Given the description of an element on the screen output the (x, y) to click on. 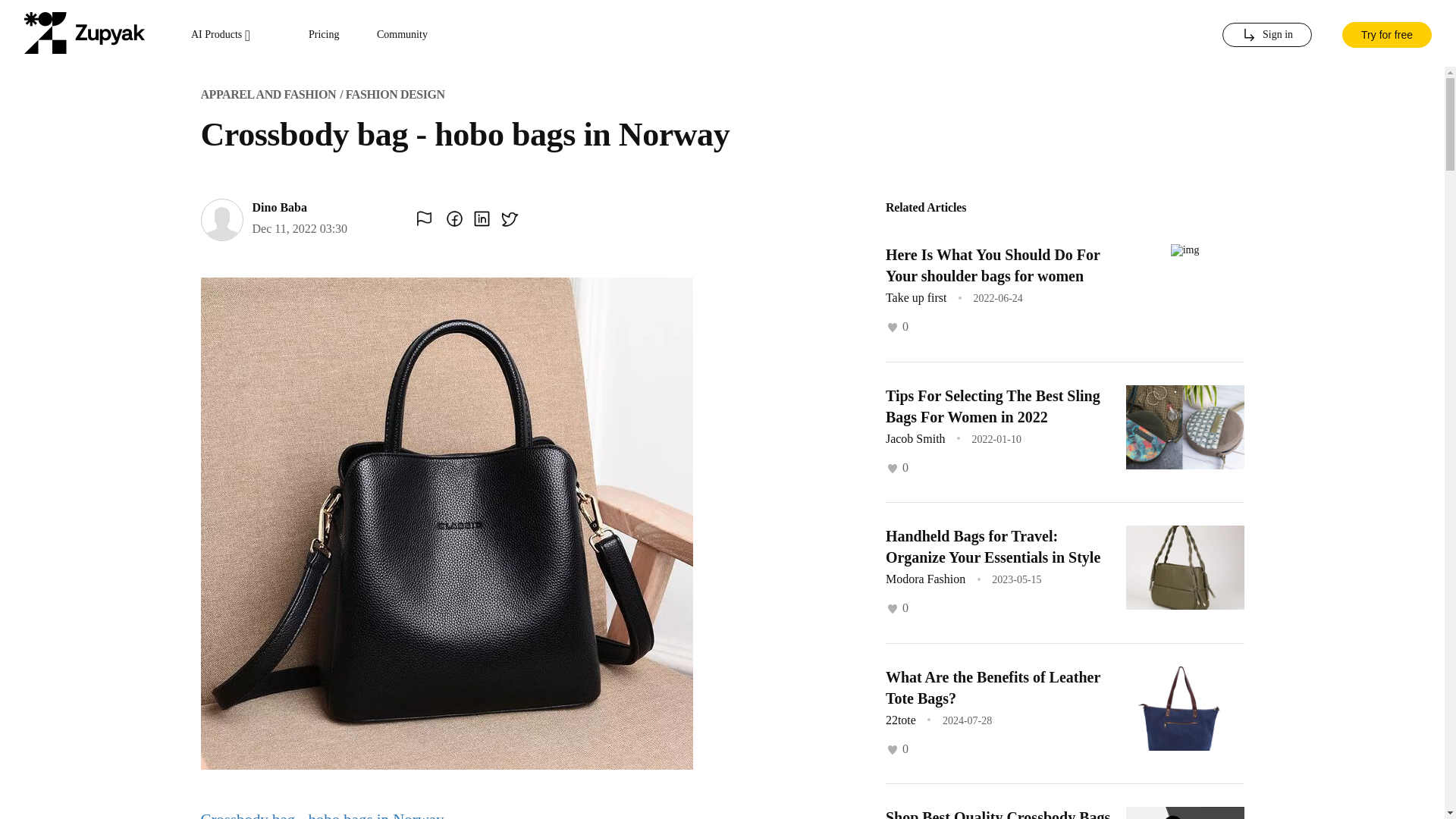
 Sign in (1267, 34)
Pricing (323, 34)
Community (402, 34)
APPAREL AND FASHION (268, 93)
Handheld Bags for Travel: Organize Your Essentials in Style (992, 546)
Tips For Selecting The Best Sling Bags For Women in 2022 (992, 405)
Try for free (1386, 33)
FASHION DESIGN (395, 93)
Crossbody bag - hobo bags in Norway (322, 814)
Here Is What You Should Do For Your shoulder bags for women (992, 265)
